Given the description of an element on the screen output the (x, y) to click on. 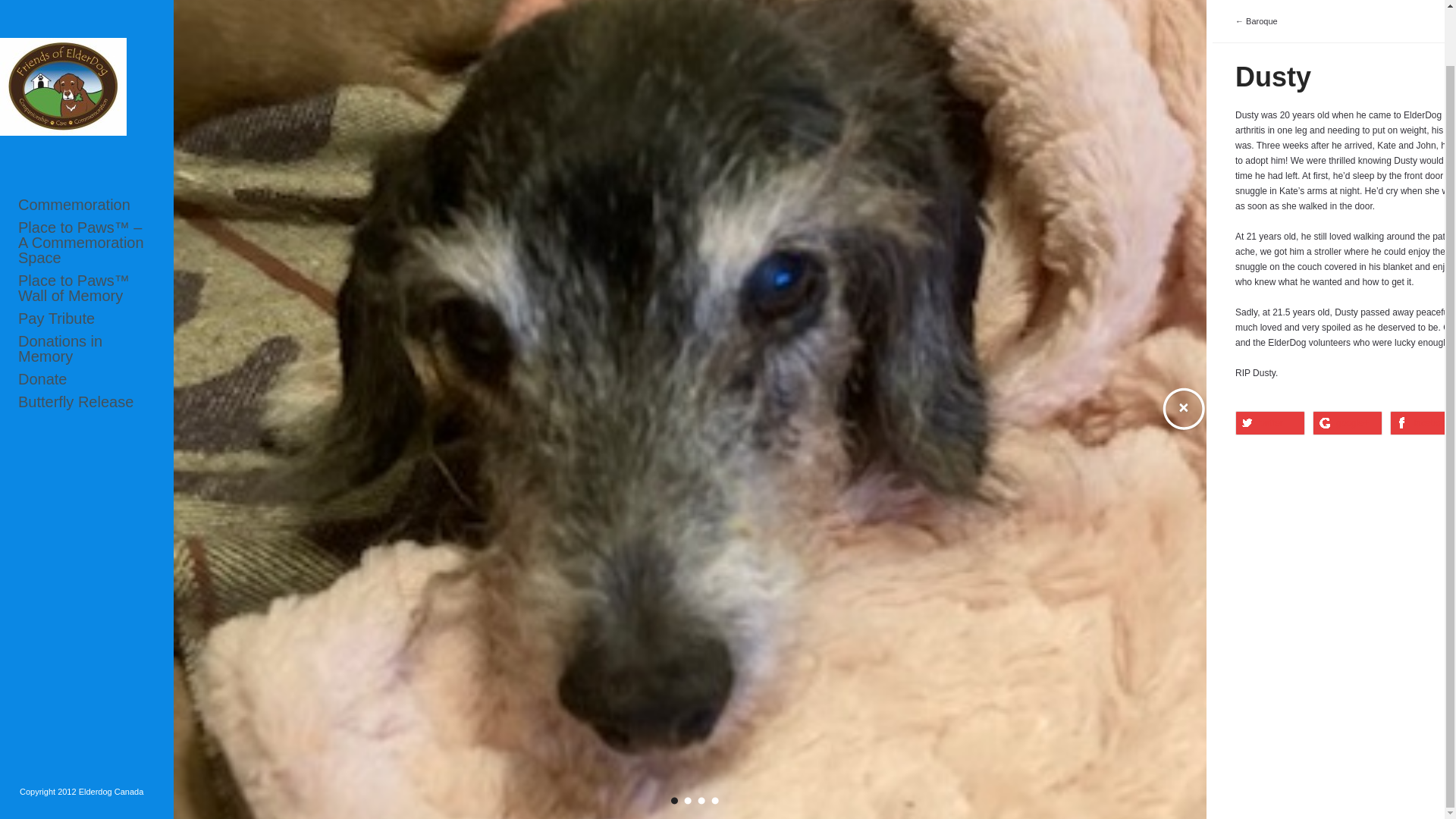
Commemoration (86, 143)
Donate (86, 318)
Close panel (1183, 409)
Donations in Memory (86, 287)
Pay Tribute (86, 257)
twitter (1269, 422)
Butterfly Release (86, 340)
facebook (1423, 422)
